Given the description of an element on the screen output the (x, y) to click on. 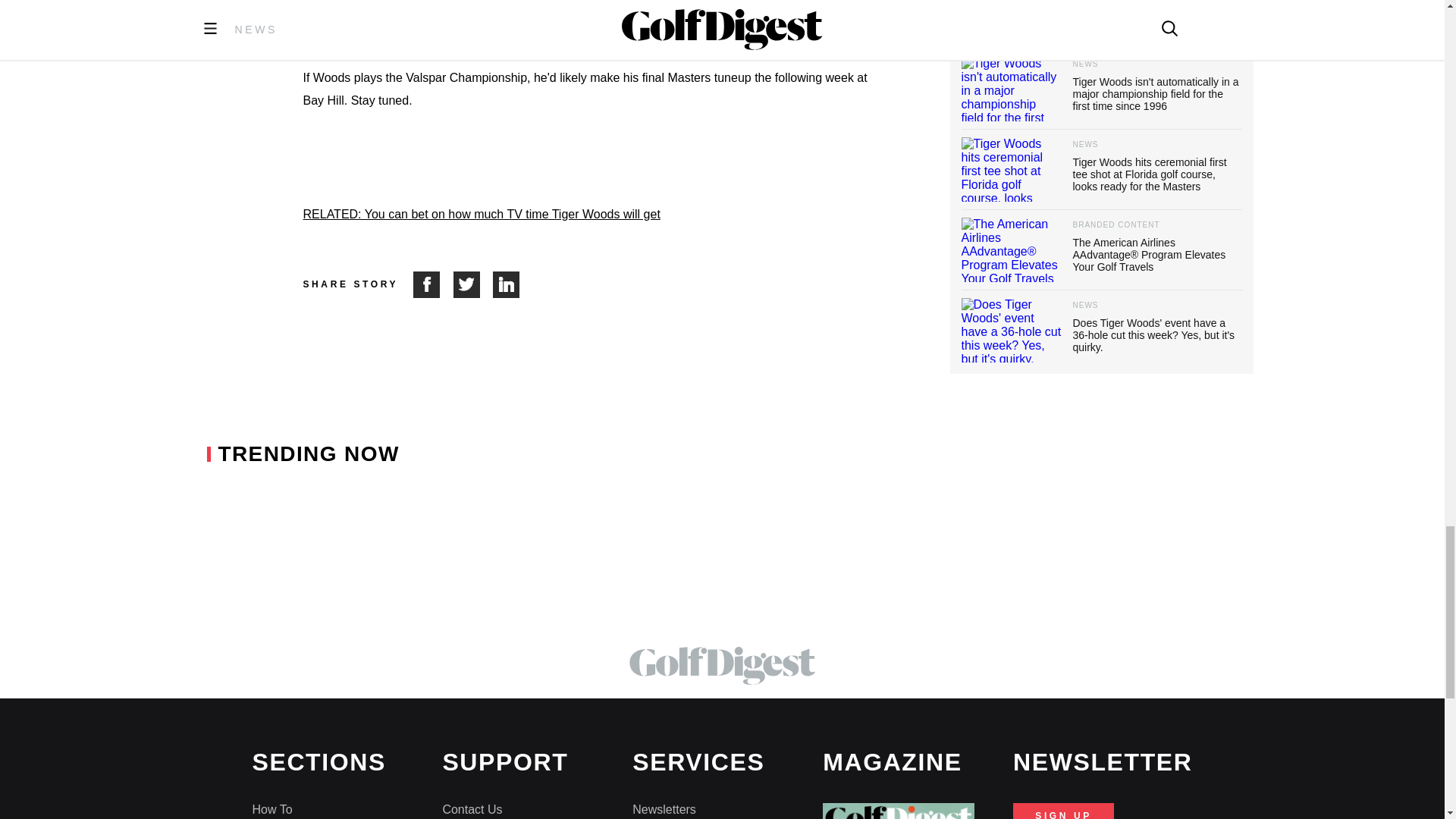
Share on LinkedIn (506, 284)
Share on Twitter (472, 284)
Share on Facebook (432, 284)
